Given the description of an element on the screen output the (x, y) to click on. 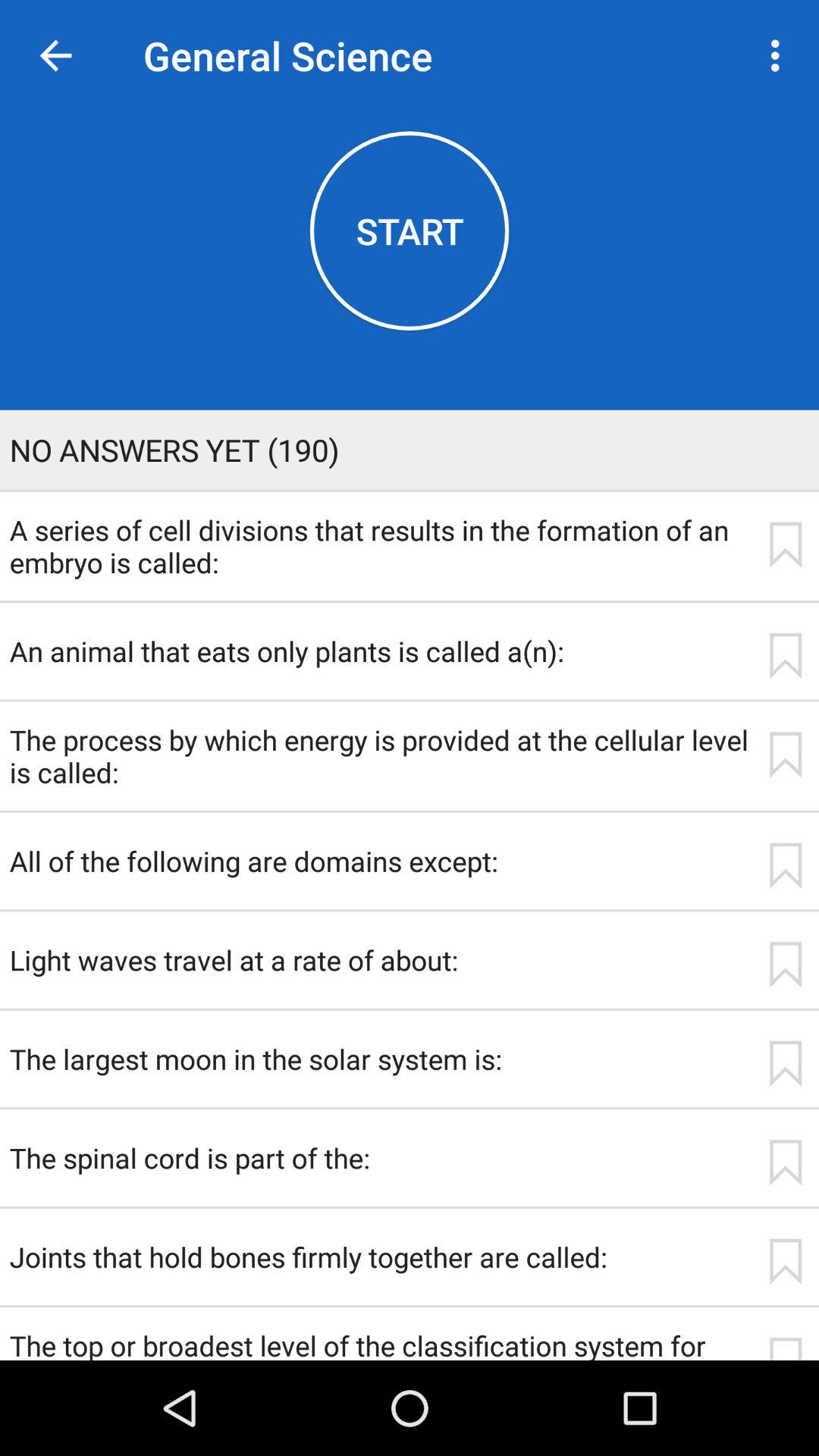
click the start icon (409, 230)
